Given the description of an element on the screen output the (x, y) to click on. 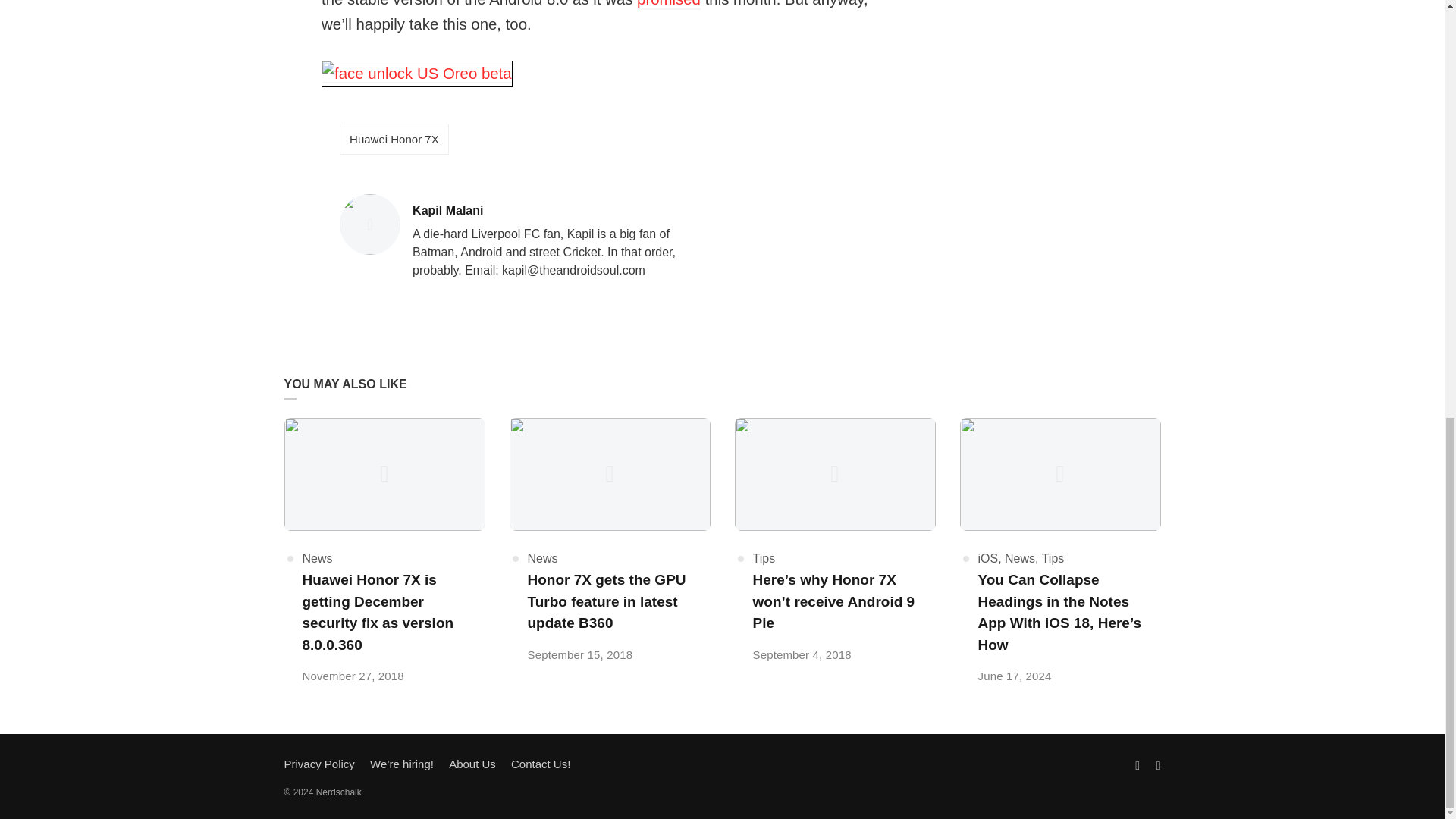
News (564, 211)
Tips (316, 558)
News (763, 558)
About Us (542, 558)
Tips (472, 763)
Huawei Honor 7X (1053, 558)
Privacy Policy (393, 138)
promised (318, 763)
iOS (668, 4)
News (988, 558)
